Given the description of an element on the screen output the (x, y) to click on. 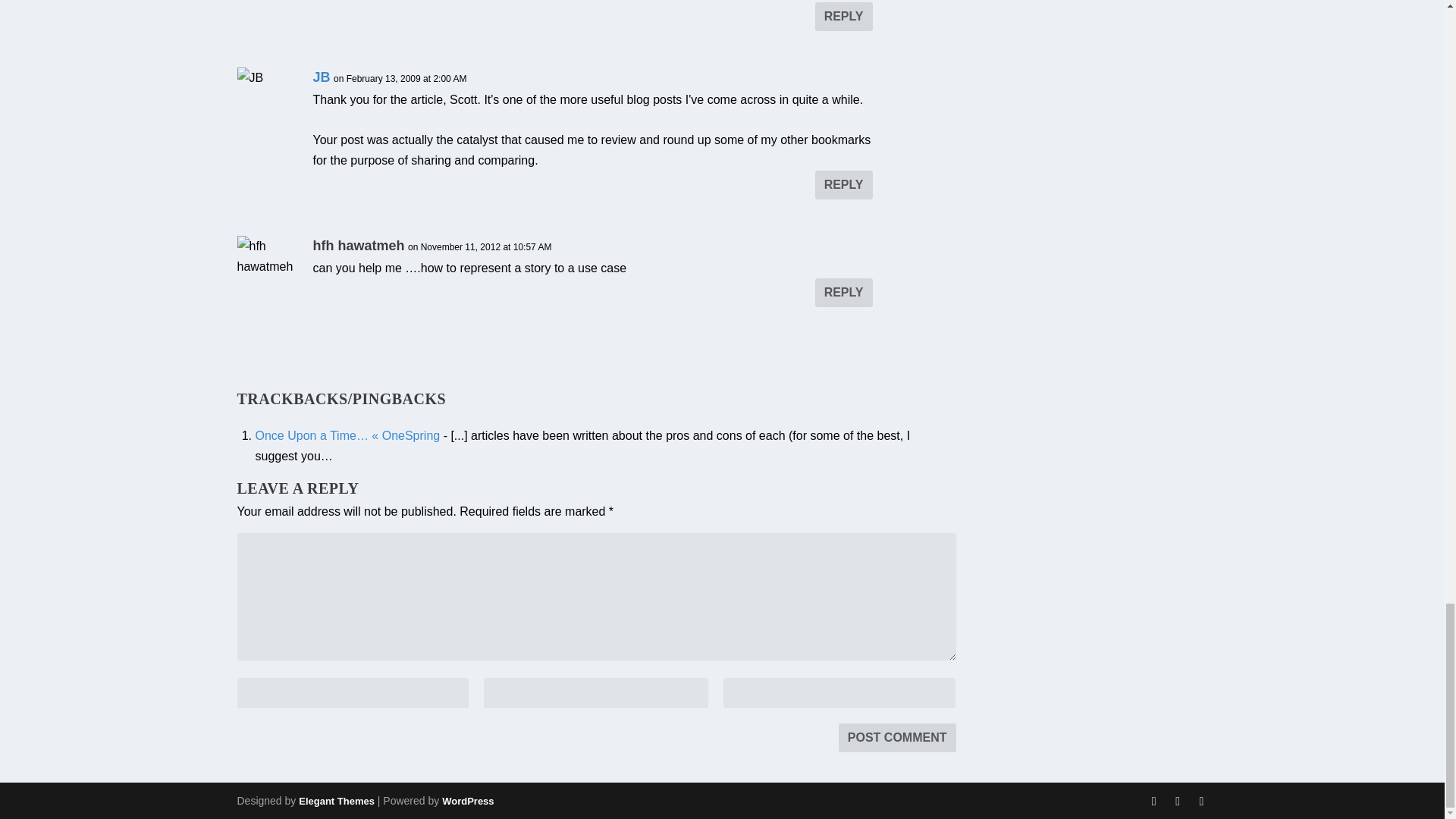
Post Comment (897, 737)
